Given the description of an element on the screen output the (x, y) to click on. 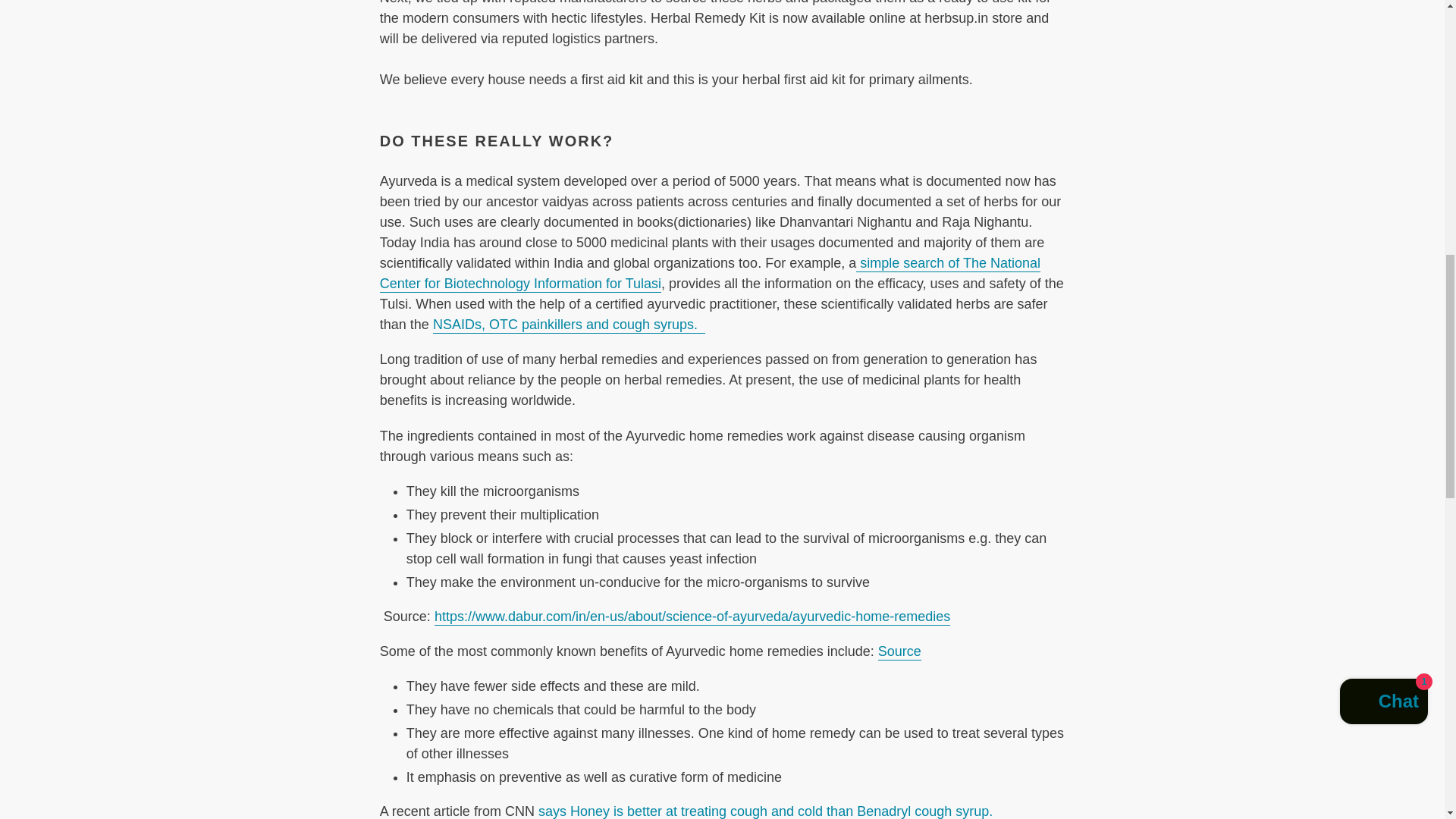
NSAIDs, OTC painkillers and cough syrups.   (568, 324)
